Given the description of an element on the screen output the (x, y) to click on. 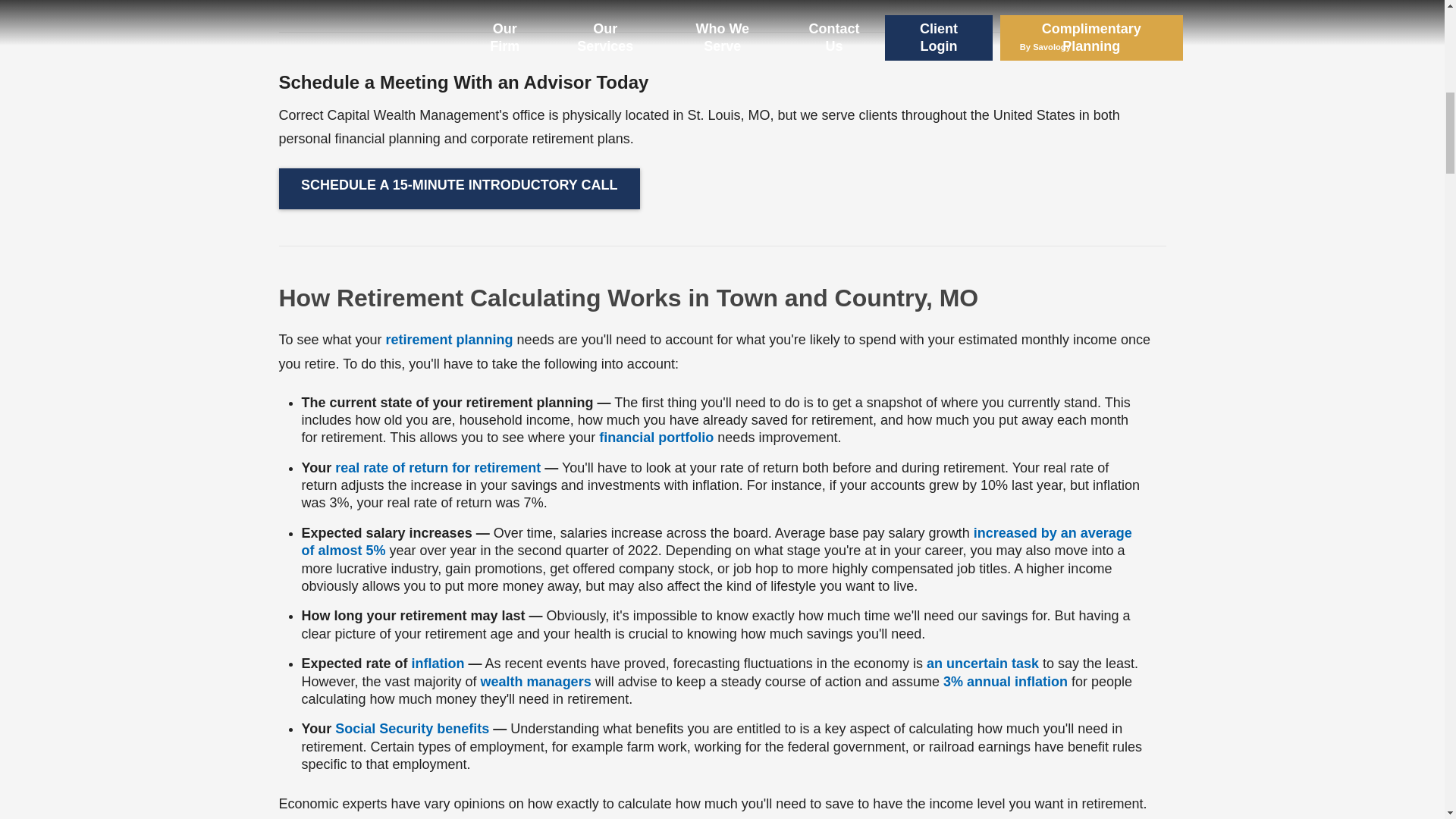
Investopedia (437, 467)
financial portfolio (655, 437)
an uncertain task (982, 663)
Annuity (1005, 681)
inflation (438, 663)
SHRM (716, 541)
retirement planning (449, 340)
SCHEDULE A 15-MINUTE INTRODUCTORY CALL (459, 188)
SSA (411, 728)
Investopedia (438, 663)
